Given the description of an element on the screen output the (x, y) to click on. 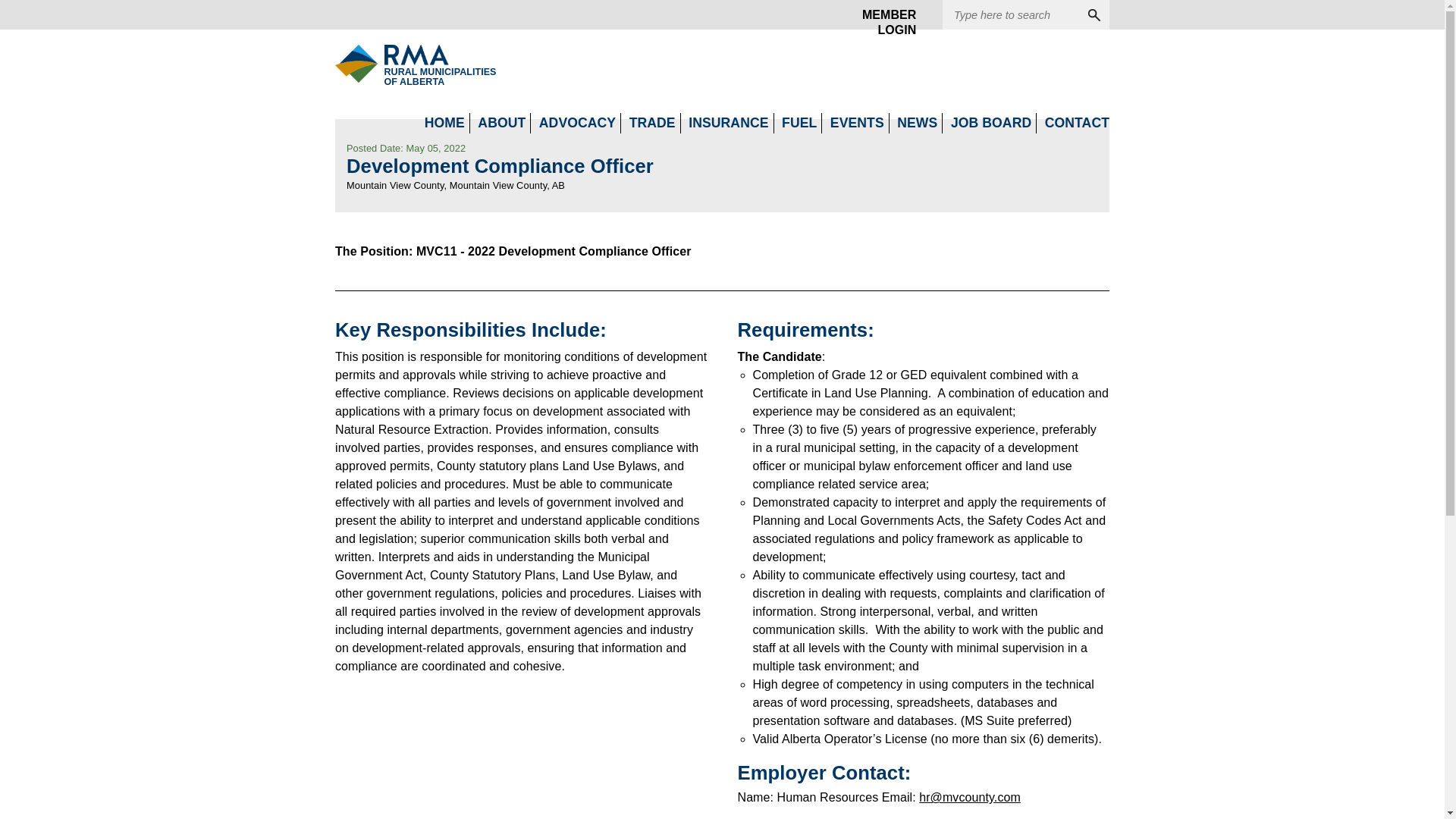
TRADE (651, 122)
MEMBER LOGIN (883, 14)
ABOUT (501, 122)
HOME (444, 122)
INSURANCE (728, 122)
ADVOCACY (576, 122)
